Given the description of an element on the screen output the (x, y) to click on. 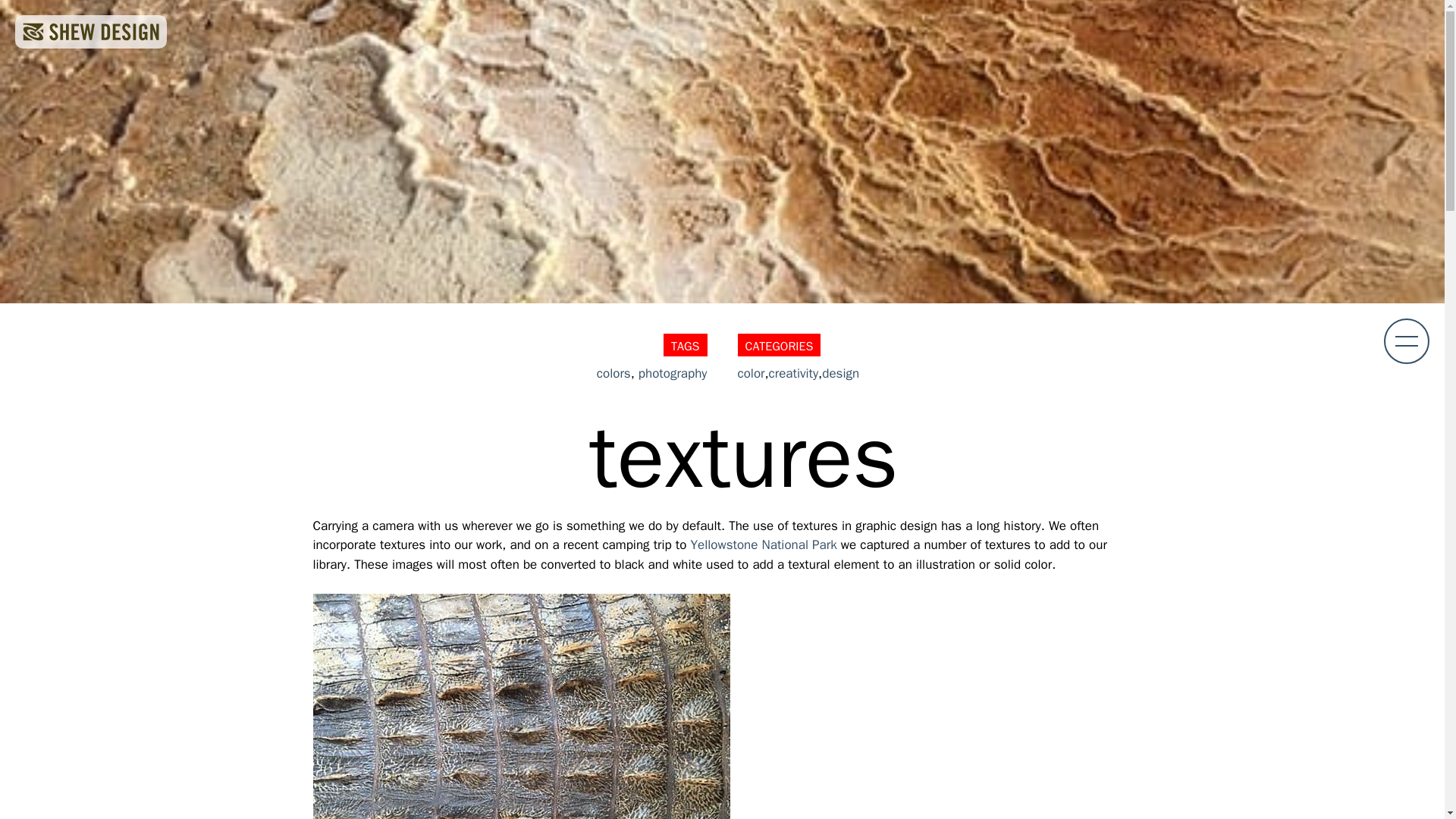
photography (673, 373)
colors (613, 373)
Yellowstone National Park (763, 544)
creativity (793, 373)
color (750, 373)
design (840, 373)
